Given the description of an element on the screen output the (x, y) to click on. 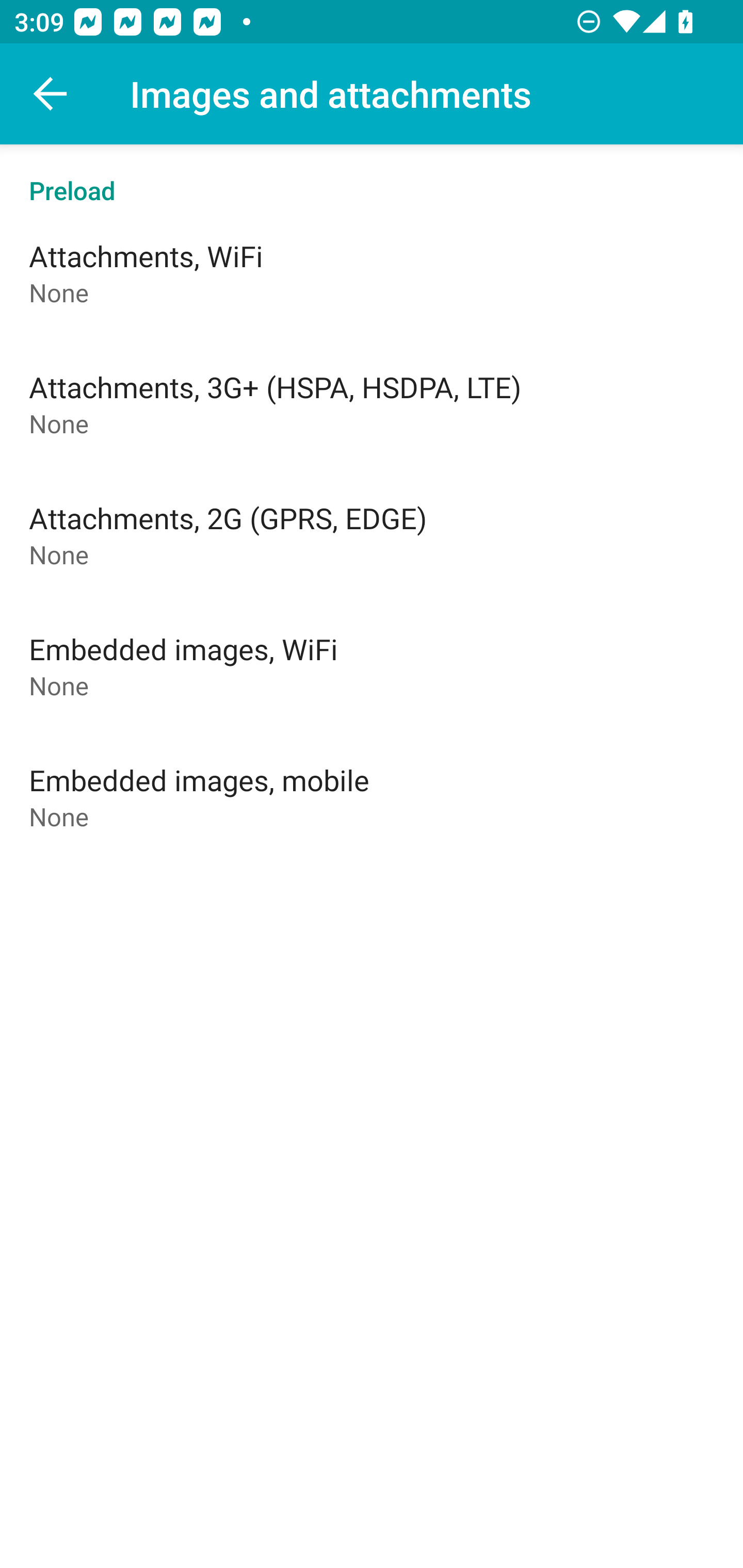
Navigate up (50, 93)
Attachments, WiFi None (371, 272)
Attachments, 3G+ (HSPA, HSDPA, LTE) None (371, 403)
Attachments, 2G (GPRS, EDGE) None (371, 534)
Embedded images, WiFi None (371, 665)
Embedded images, mobile None (371, 796)
